Given the description of an element on the screen output the (x, y) to click on. 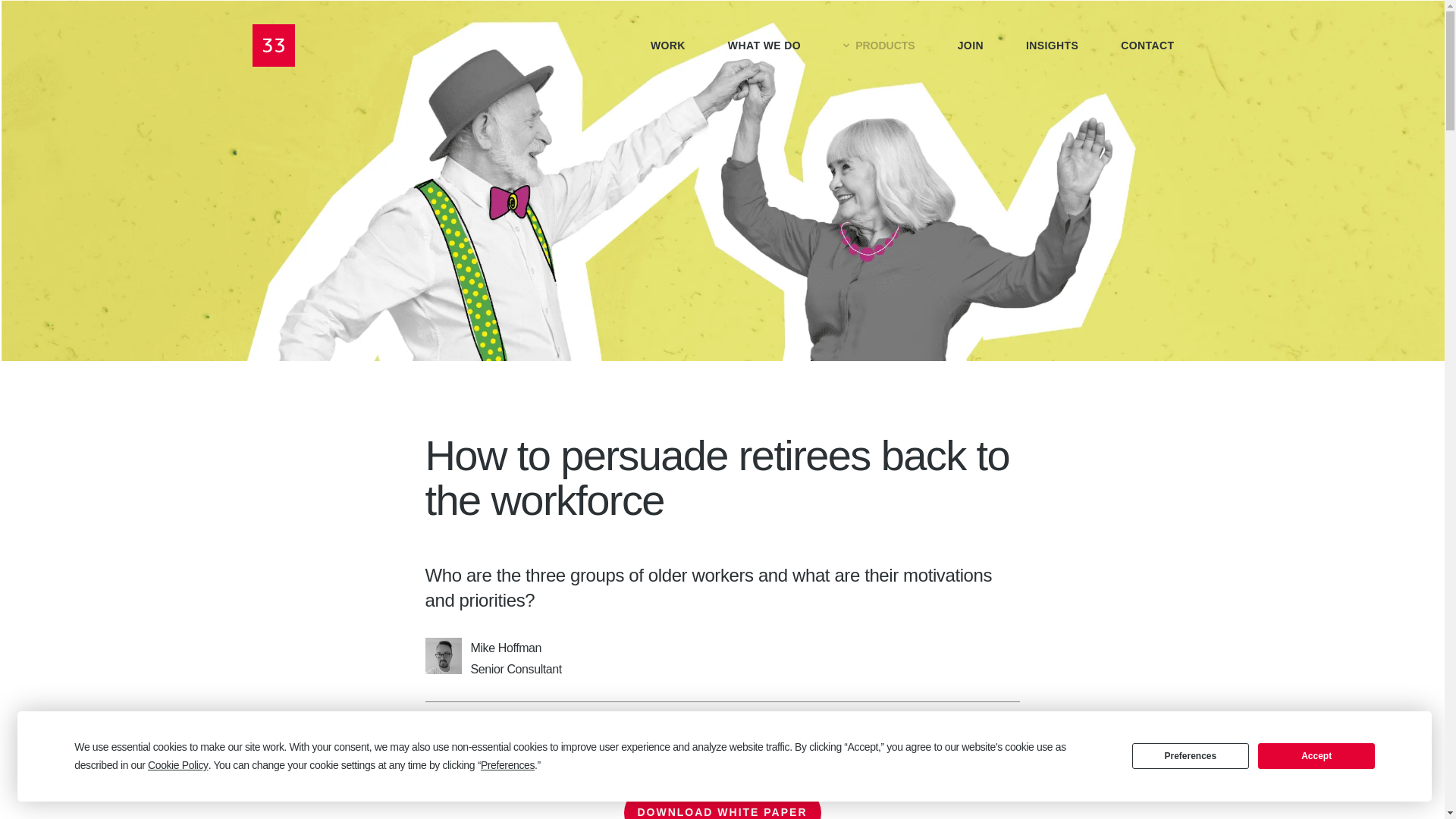
WHAT WE DO (764, 45)
INSIGHTS (1052, 45)
Research (767, 727)
Preferences (1190, 755)
JOIN (971, 45)
WORK (667, 45)
Accept (1315, 755)
DOWNLOAD WHITE PAPER (722, 803)
Talent Attraction (684, 727)
PRODUCTS (879, 45)
CONTACT (1147, 45)
